Given the description of an element on the screen output the (x, y) to click on. 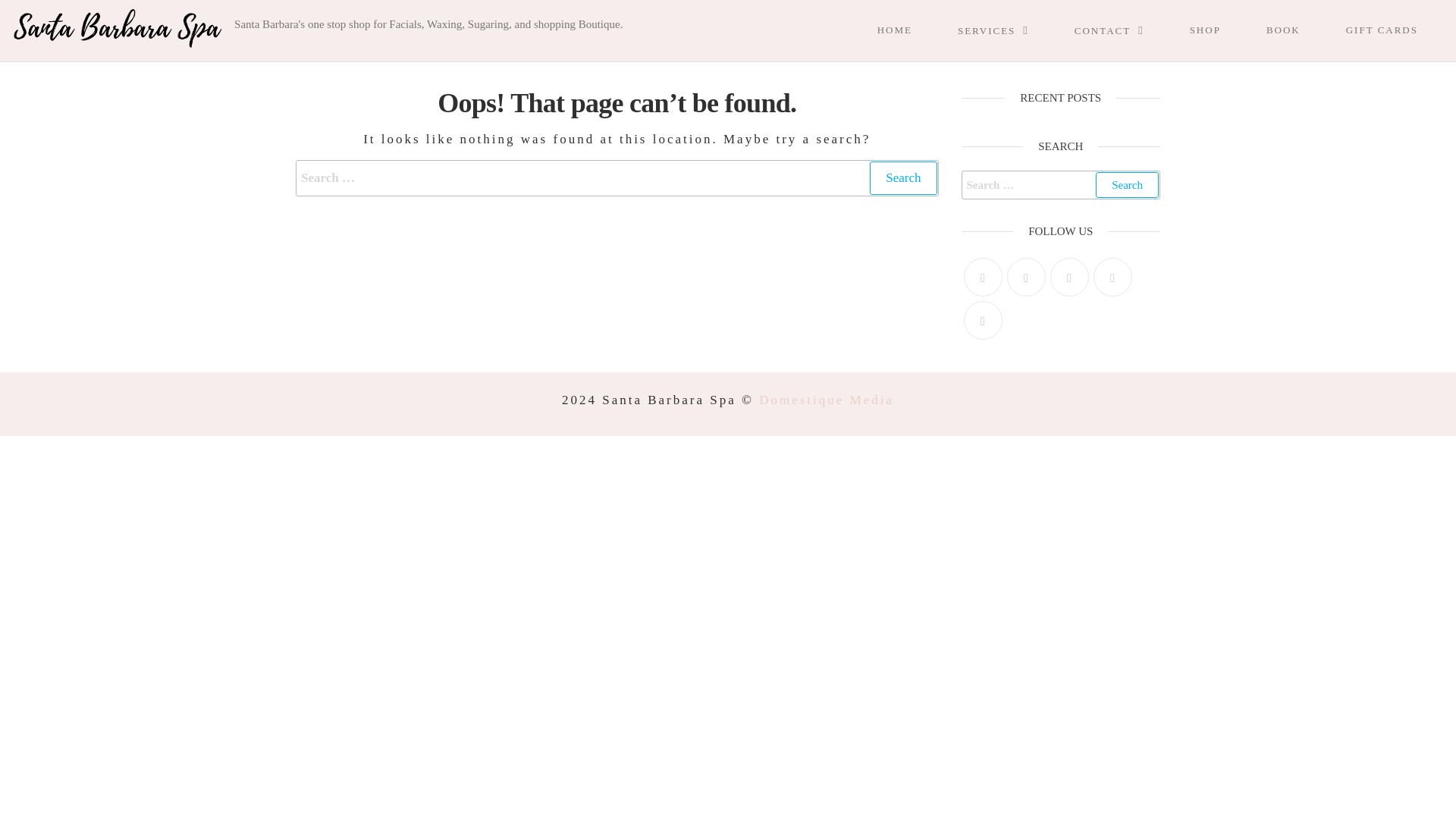
Search (1127, 184)
Search (902, 177)
Facebook (1026, 276)
Domestique Media (825, 400)
Services (1008, 30)
Pinterest (1068, 276)
CONTACT (1124, 30)
Shop (1220, 30)
Search (902, 177)
Home (909, 30)
